Given the description of an element on the screen output the (x, y) to click on. 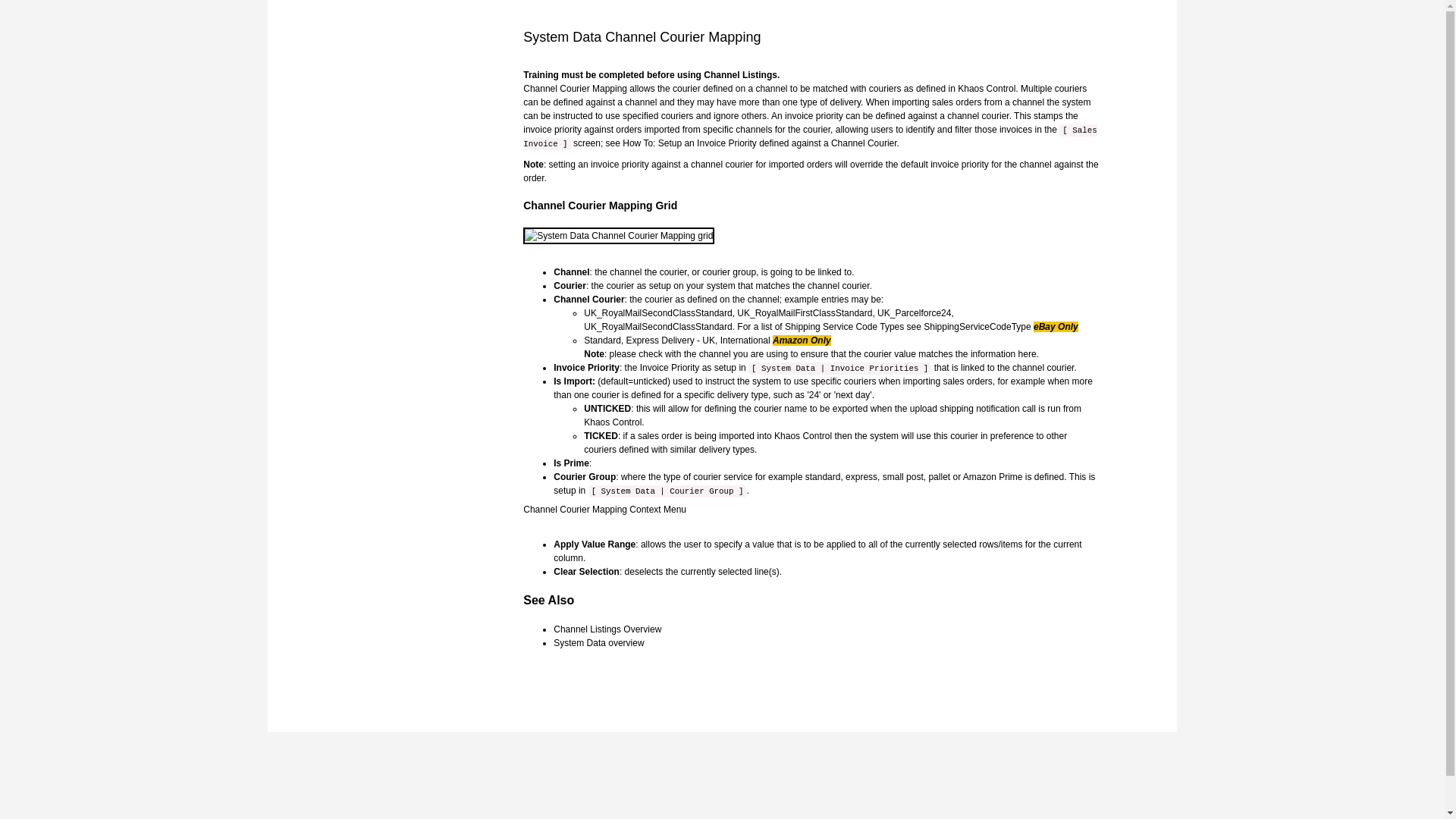
System Data Invoice Priorities (670, 367)
System Data Invoice Priorities (839, 367)
How To: Apply Value Range (593, 543)
System Data Courier Group (584, 476)
Staged Processing (809, 136)
System Data (598, 643)
System Data Courier Group (667, 490)
Stock Web Categories (607, 629)
System Data Couriers (620, 285)
